Given the description of an element on the screen output the (x, y) to click on. 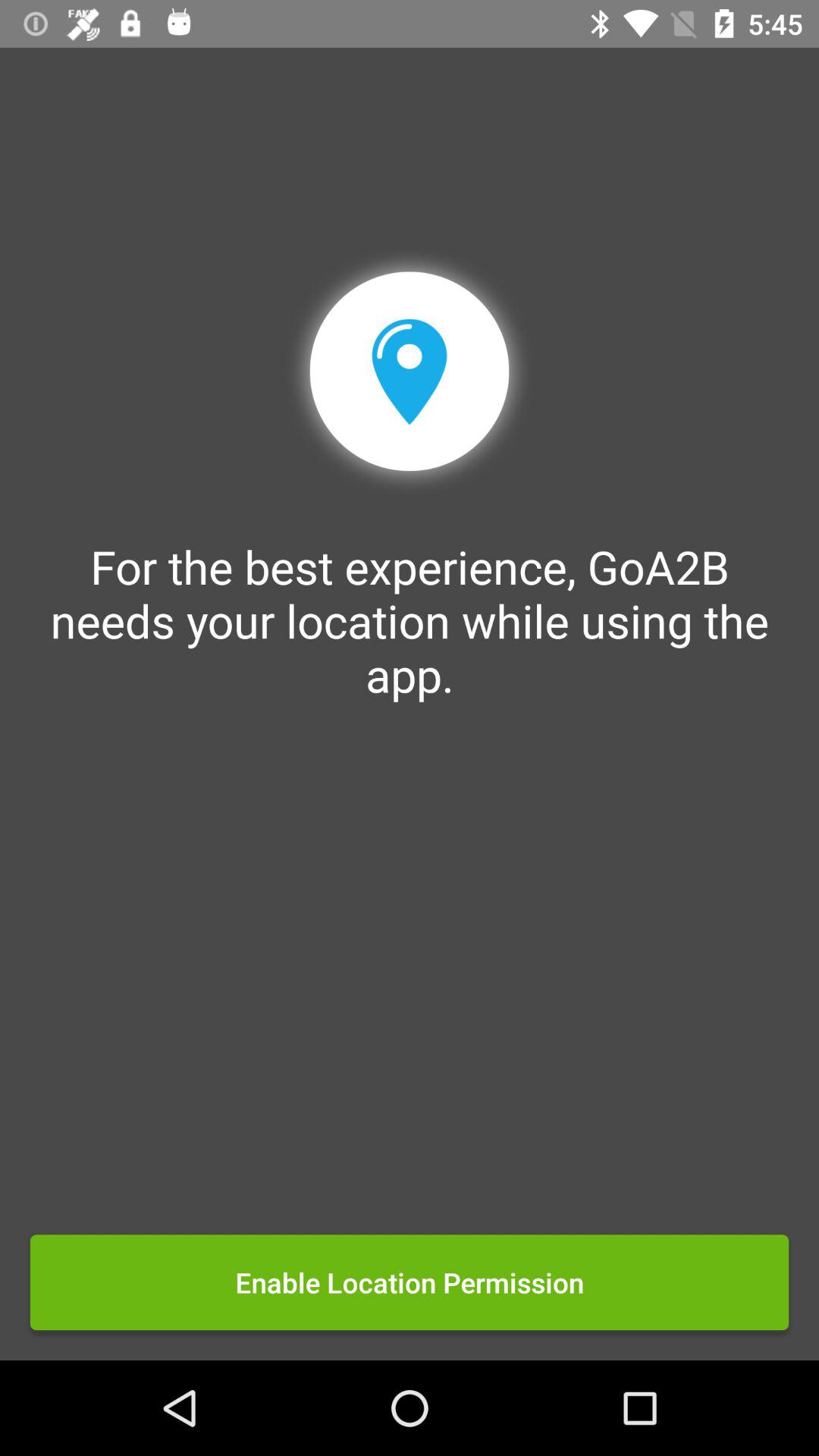
press icon below for the best item (409, 1282)
